Given the description of an element on the screen output the (x, y) to click on. 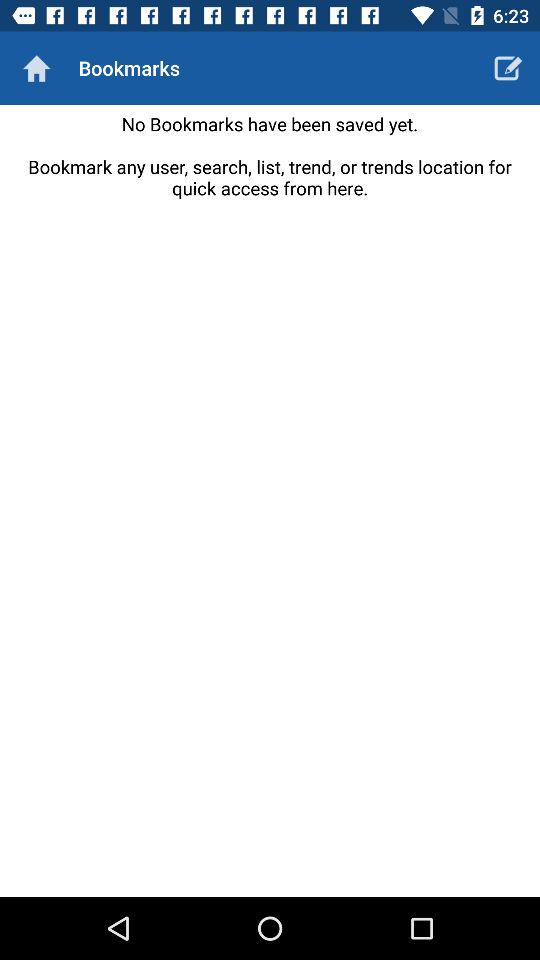
open the item to the left of the bookmarks icon (36, 68)
